Given the description of an element on the screen output the (x, y) to click on. 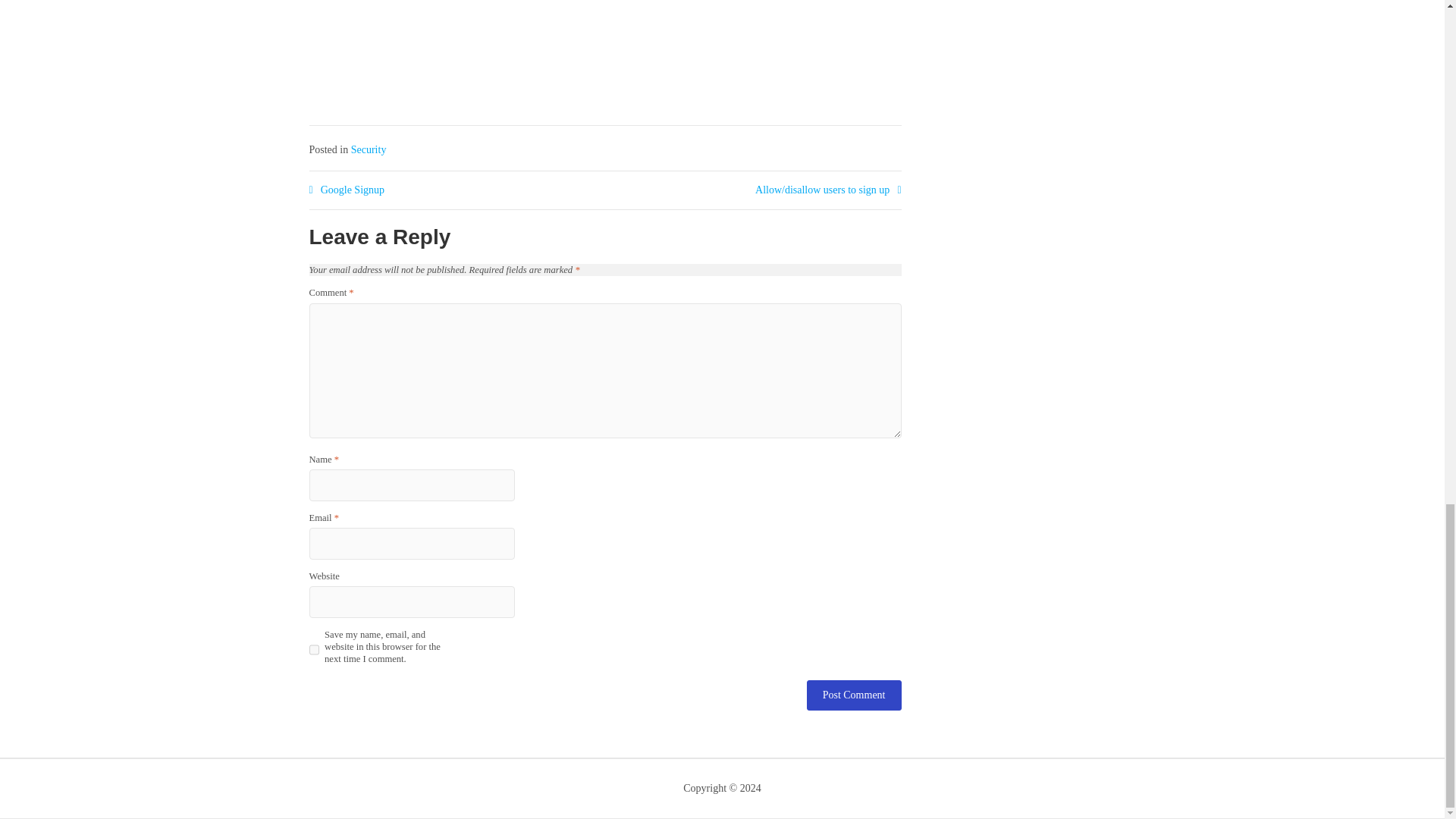
Post Comment (853, 695)
Security (368, 149)
Google Signup (346, 189)
Post Comment (853, 695)
